Given the description of an element on the screen output the (x, y) to click on. 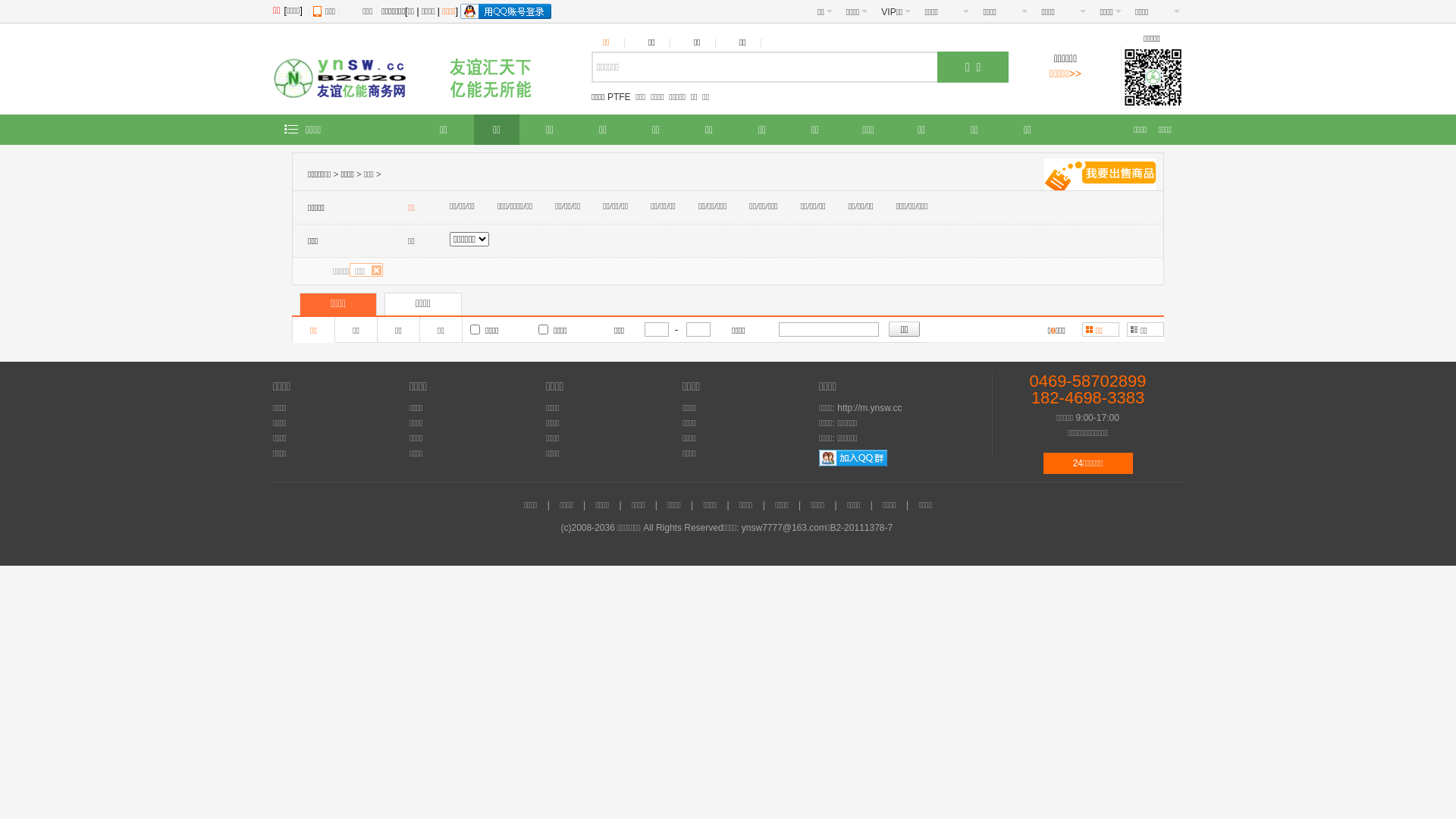
http://m.ynsw.cc Element type: text (869, 407)
PTFE Element type: text (618, 96)
